Given the description of an element on the screen output the (x, y) to click on. 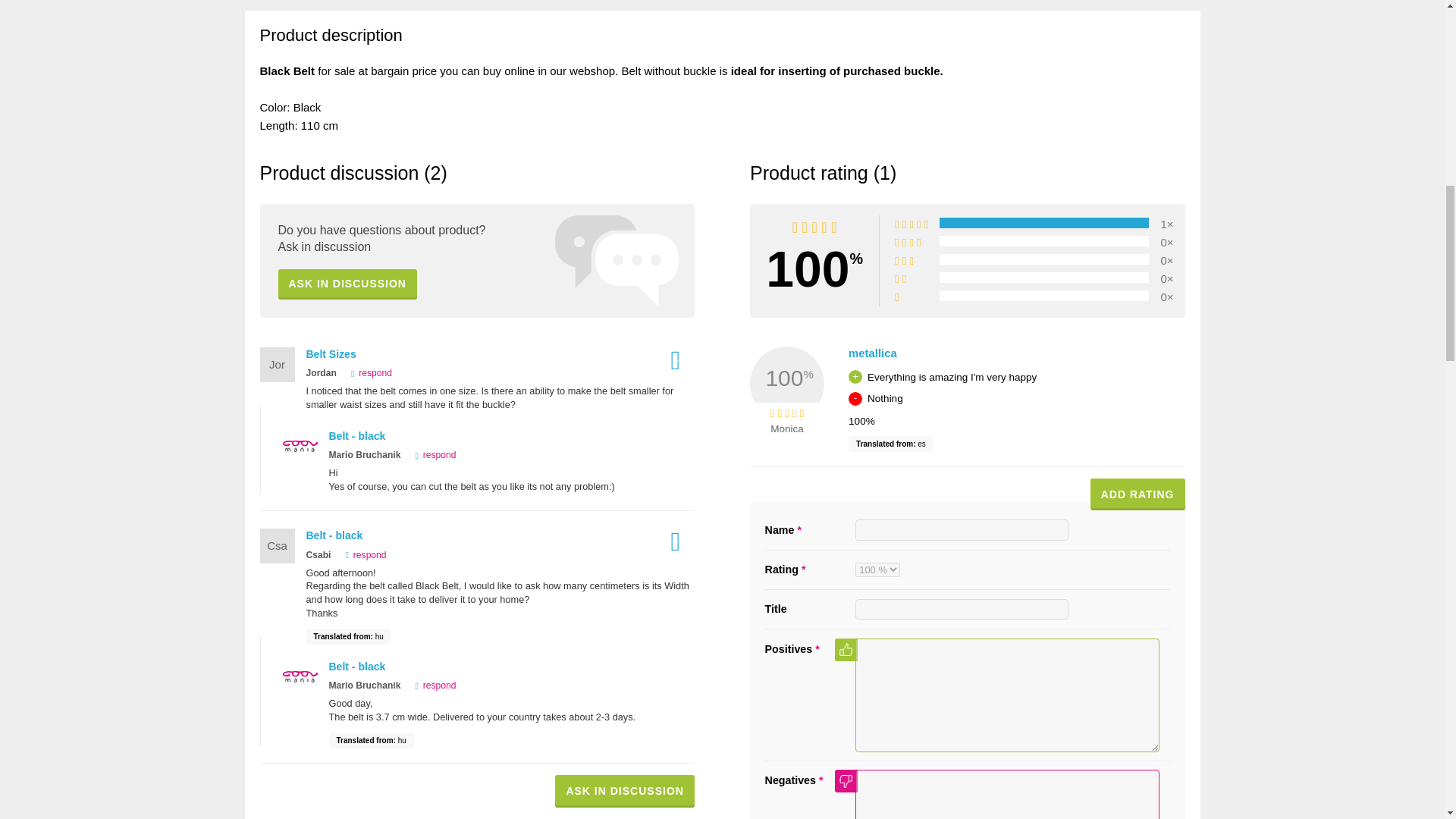
respond (426, 712)
ADD RATING (1137, 522)
ASK IN DISCUSSION (347, 311)
respond (366, 399)
respond (360, 582)
respond (426, 481)
Rating 1 (525, 16)
ASK IN DISCUSSION (624, 810)
Product description (310, 16)
